Given the description of an element on the screen output the (x, y) to click on. 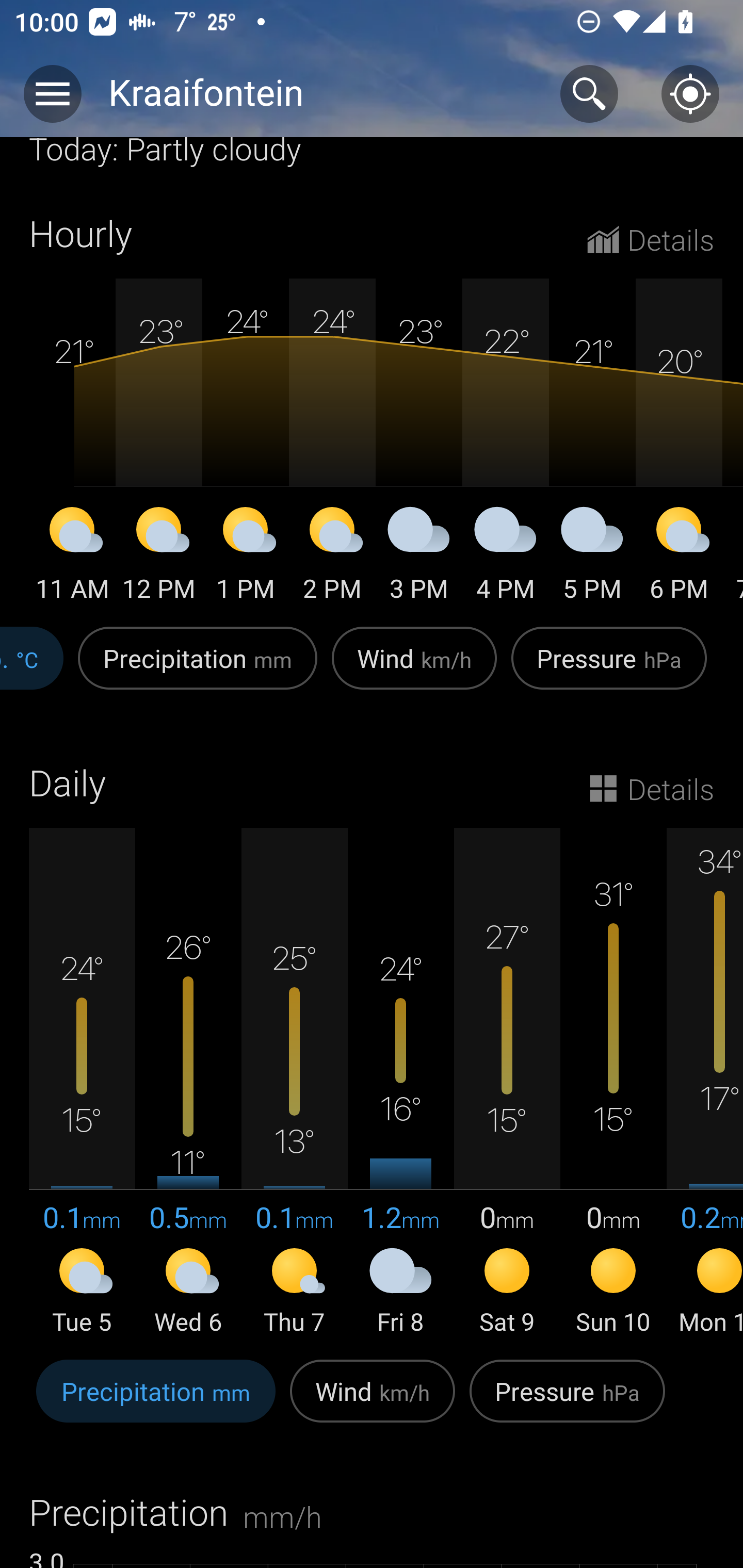
11 AM (71, 557)
12 PM (158, 557)
1 PM (245, 557)
2 PM (332, 557)
3 PM (418, 557)
4 PM (505, 557)
5 PM (592, 557)
6 PM (679, 557)
Precipitation mm (197, 668)
Wind km/h (413, 668)
Pressure hPa (608, 668)
24° 15° 0.1 mm Tue 5 (81, 1082)
26° 11° 0.5 mm Wed 6 (188, 1082)
25° 13° 0.1 mm Thu 7 (294, 1082)
24° 16° 1.2 mm Fri 8 (400, 1082)
27° 15° 0 mm Sat 9 (506, 1082)
31° 15° 0 mm Sun 10 (613, 1082)
34° 17° 0.2 mm Mon 11 (704, 1082)
Precipitation mm (155, 1401)
Wind km/h (372, 1401)
Pressure hPa (567, 1401)
